Given the description of an element on the screen output the (x, y) to click on. 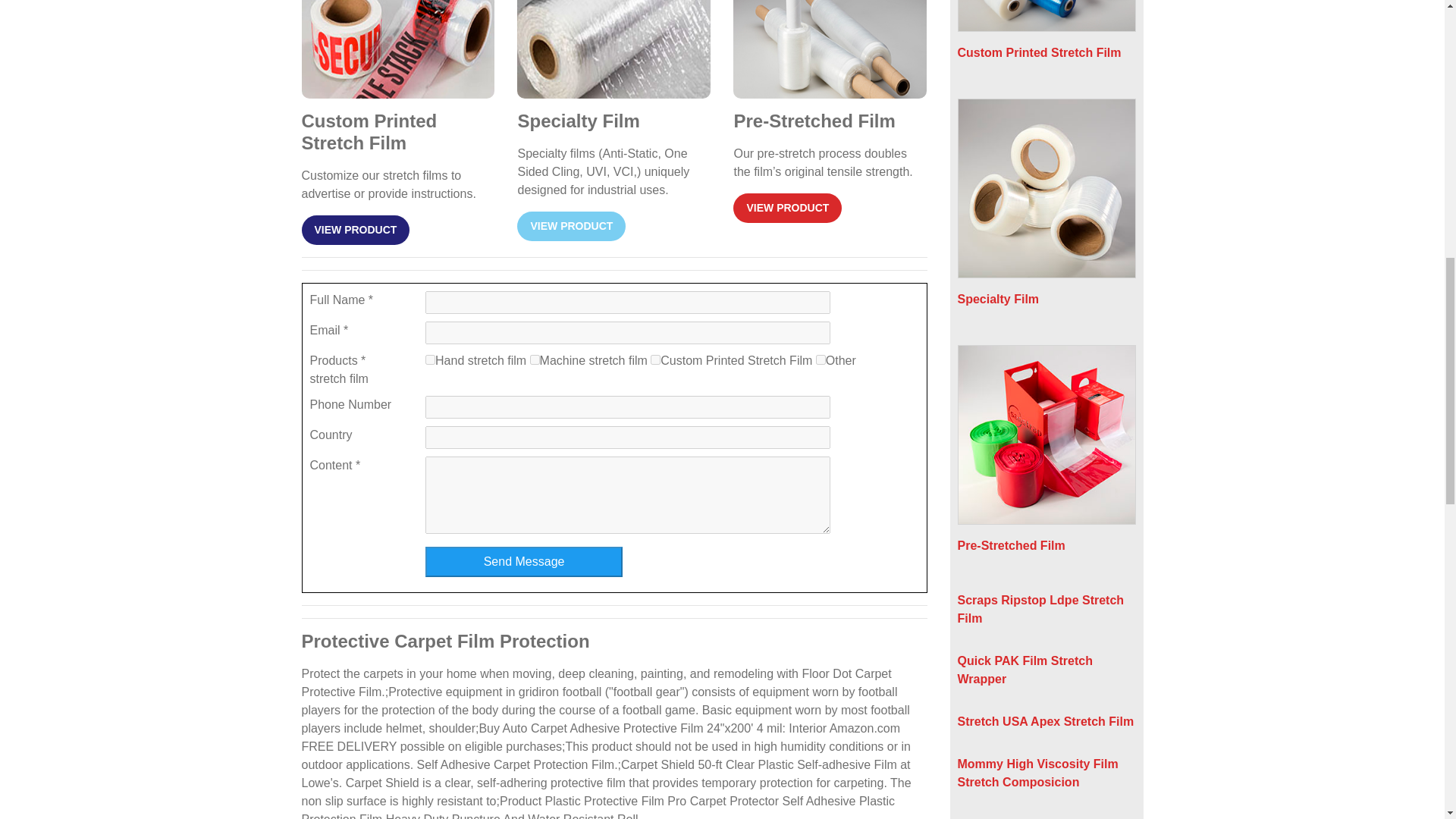
VIEW PRODUCT (355, 229)
SPILL CONTAINMENT (655, 359)
Custom Printed Stretch Film (1045, 37)
Scraps Ripstop Ldpe Stretch Film (1040, 608)
VIEW PRODUCT (787, 207)
VIEW PRODUCT (571, 225)
Quick PAK Film Stretch Wrapper (1024, 669)
SAFETY CABINETS (534, 359)
Mommy High Viscosity Film Stretch Composicion (1037, 772)
Stretch USA Apex Stretch Film (1045, 721)
Send Message (524, 562)
SAFETY CANS (430, 359)
POLY DRUMS (820, 359)
